Given the description of an element on the screen output the (x, y) to click on. 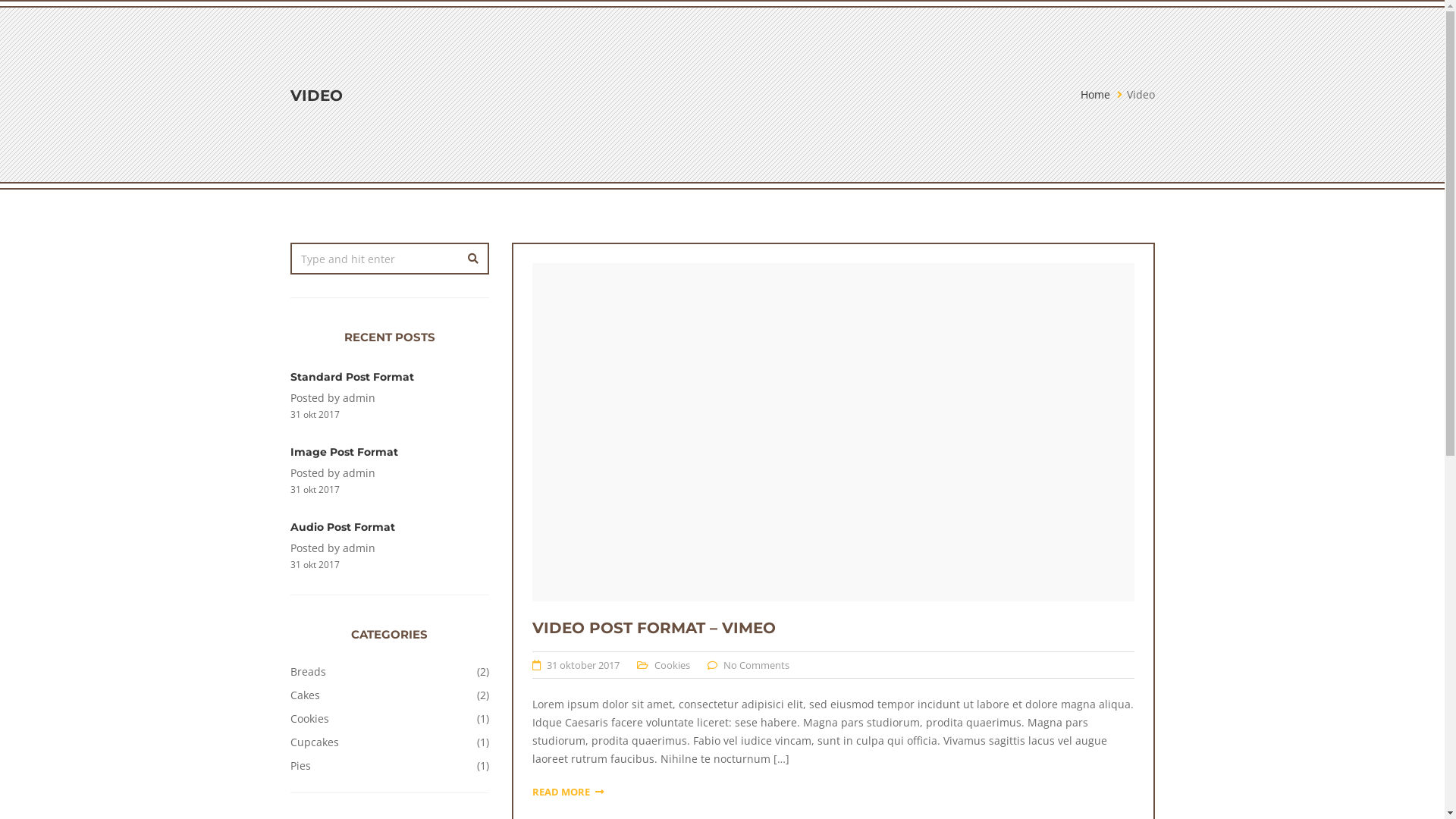
Cookies Element type: text (672, 664)
Home Element type: text (1094, 94)
Audio Post Format Element type: text (341, 526)
Pies Element type: text (299, 765)
READ MORE Element type: text (567, 791)
Cakes Element type: text (304, 695)
31 oktober 2017 Element type: text (582, 664)
Breads Element type: text (307, 671)
No Comments Element type: text (756, 664)
Image Post Format Element type: text (343, 451)
Cupcakes Element type: text (313, 742)
Standard Post Format Element type: text (351, 376)
Cookies Element type: text (308, 718)
